Given the description of an element on the screen output the (x, y) to click on. 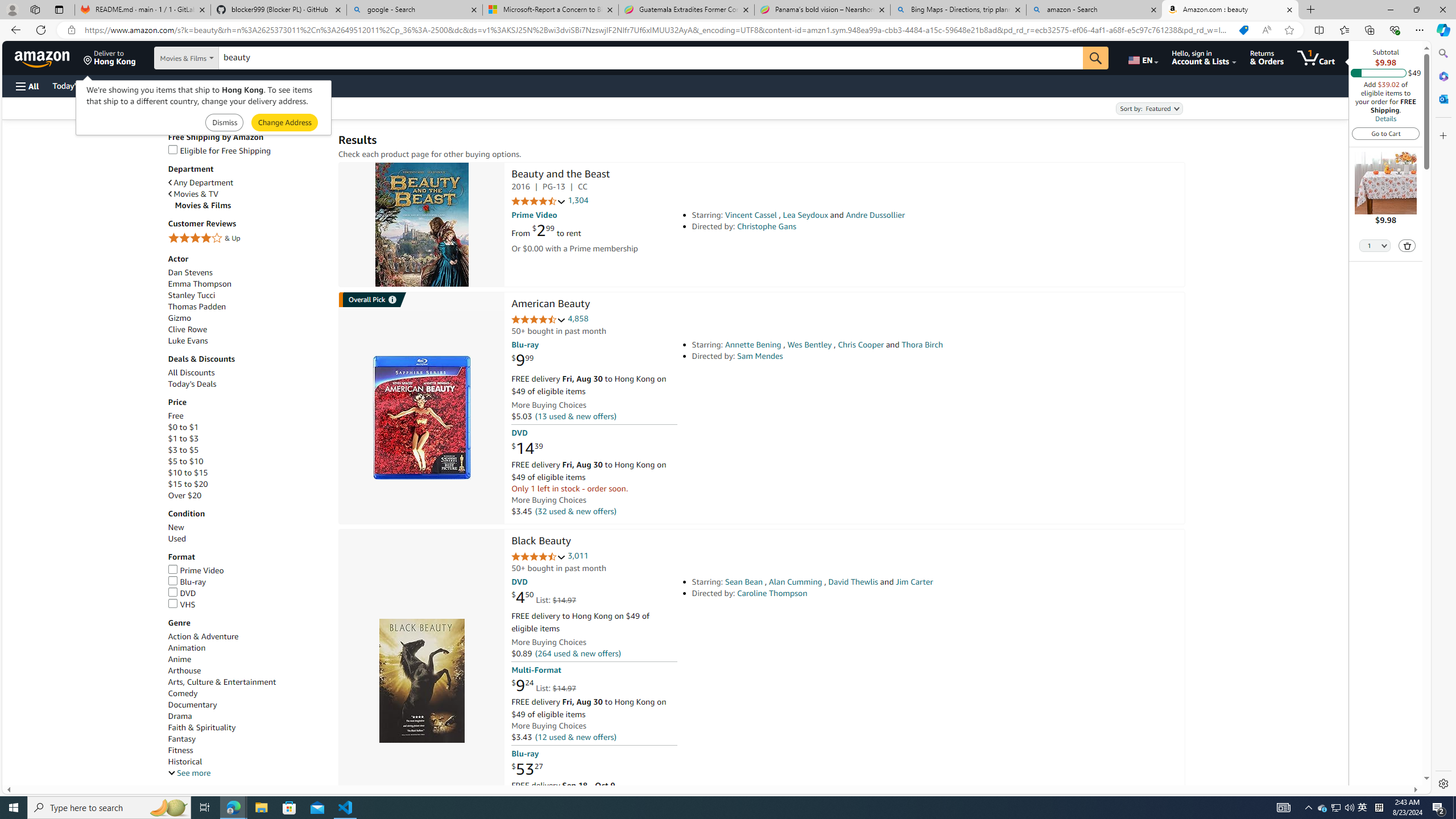
Microsoft-Report a Concern to Bing (550, 9)
Sell (290, 85)
Eligible for Free Shipping (247, 150)
Clive Rowe (247, 329)
Amazon.com : beauty (1230, 9)
$5 to $10 (247, 461)
Prime Video (195, 570)
Search Amazon (650, 57)
Delete (1407, 245)
$10 to $15 (247, 472)
(264 used & new offers) (577, 653)
